Given the description of an element on the screen output the (x, y) to click on. 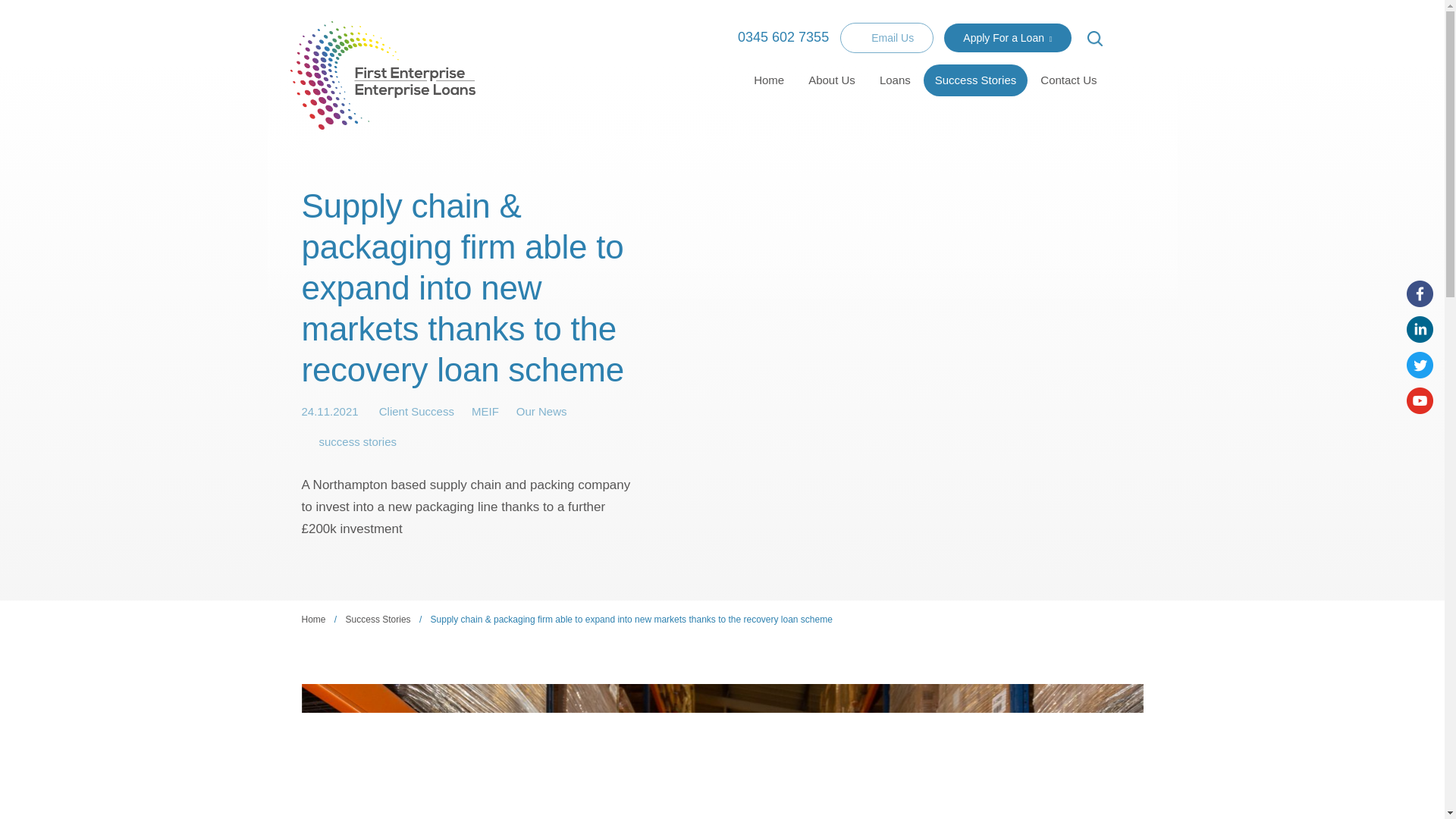
Home (768, 80)
0345 602 7355 (774, 36)
Apply For a Loan (1006, 37)
Home (768, 80)
Email Us (886, 37)
Success Stories (975, 80)
Loans (894, 80)
About Us (831, 80)
Contact Us (1068, 80)
Loans (894, 80)
